Given the description of an element on the screen output the (x, y) to click on. 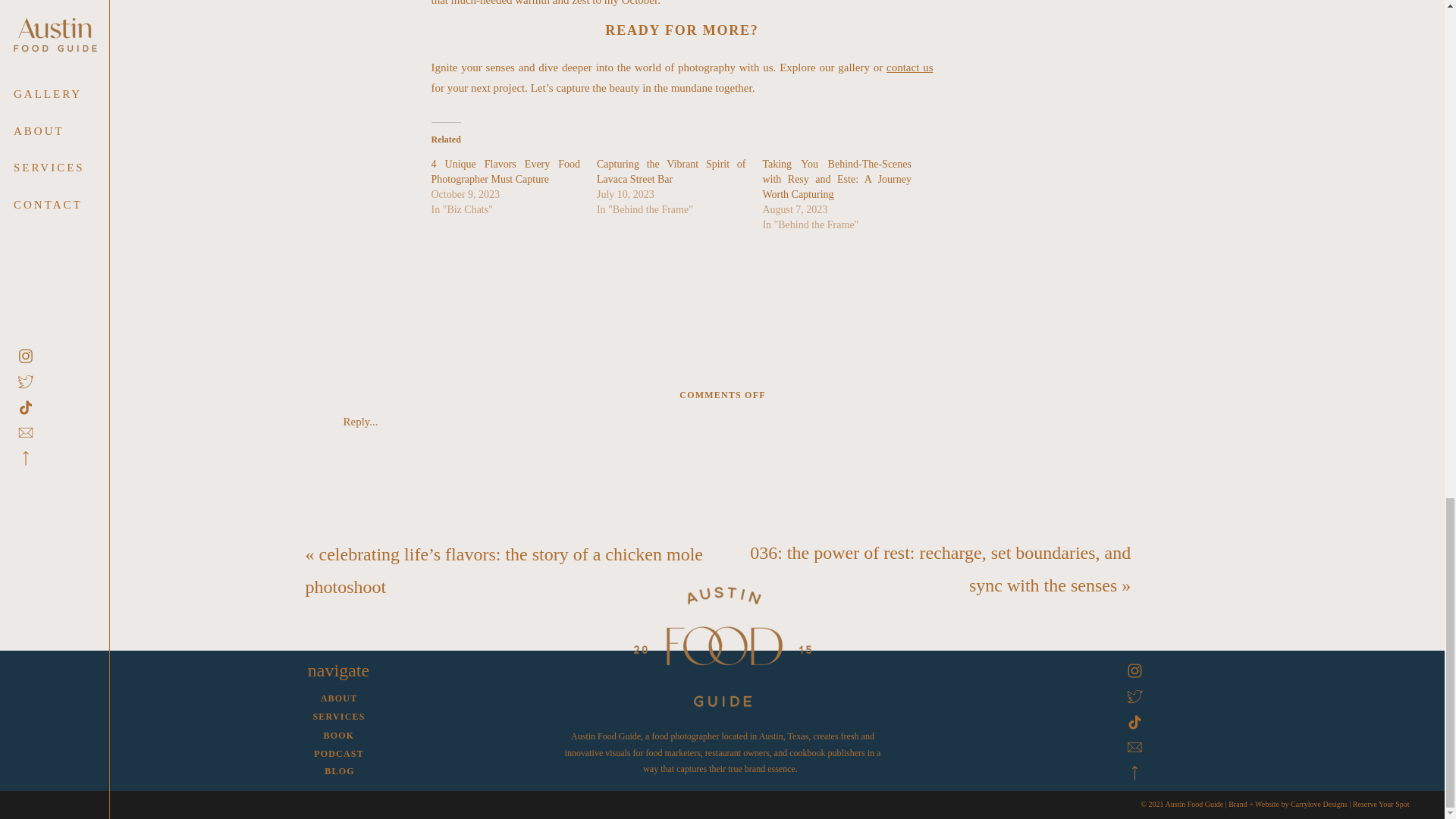
BLOG (339, 771)
SERVICES (338, 717)
contact us (909, 67)
BOOK (338, 736)
ABOUT (338, 698)
4 Unique Flavors Every Food Photographer Must Capture (504, 171)
4 Unique Flavors Every Food Photographer Must Capture (504, 171)
Capturing the Vibrant Spirit of Lavaca Street Bar (670, 171)
Reserve Your Spot (1380, 804)
